Given the description of an element on the screen output the (x, y) to click on. 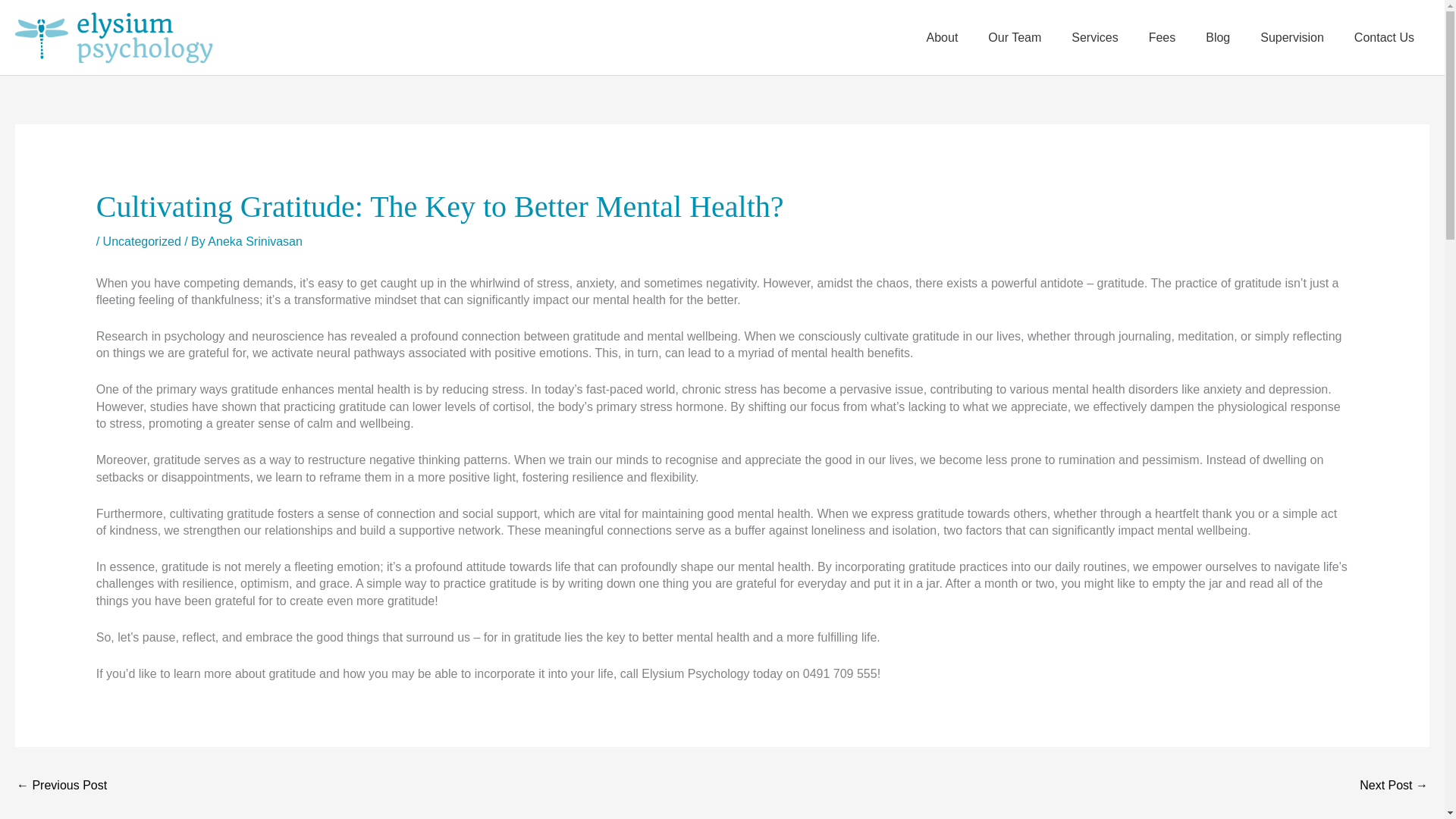
Services (1094, 37)
View all posts by Aneka Srinivasan (255, 241)
Supervision (1291, 37)
Our Team (1014, 37)
Aneka Srinivasan (255, 241)
Uncategorized (141, 241)
Contact Us (1384, 37)
